Given the description of an element on the screen output the (x, y) to click on. 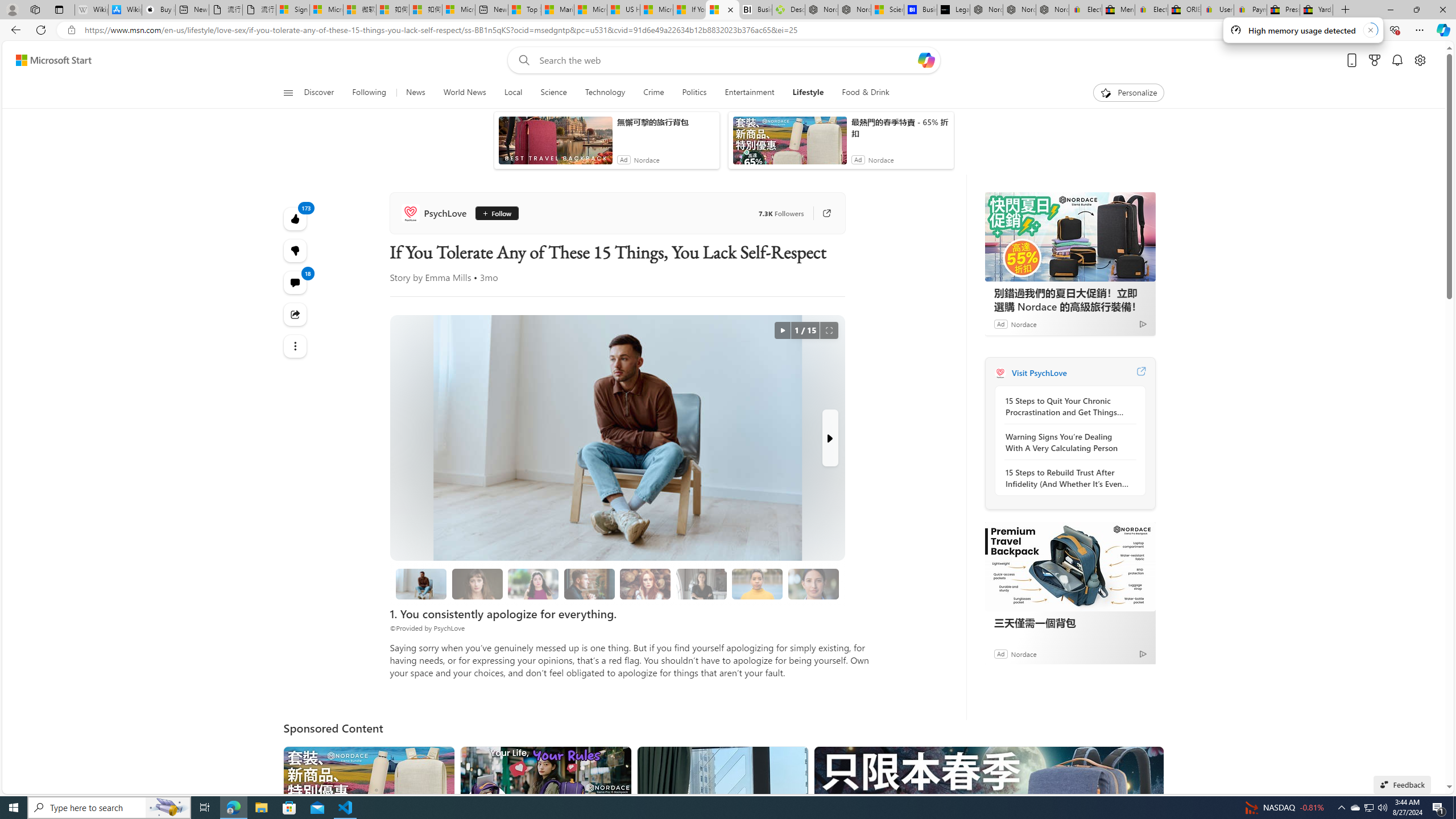
Marine life - MSN (557, 9)
3. Put some thought into it. (421, 583)
Enter your search term (726, 59)
